Given the description of an element on the screen output the (x, y) to click on. 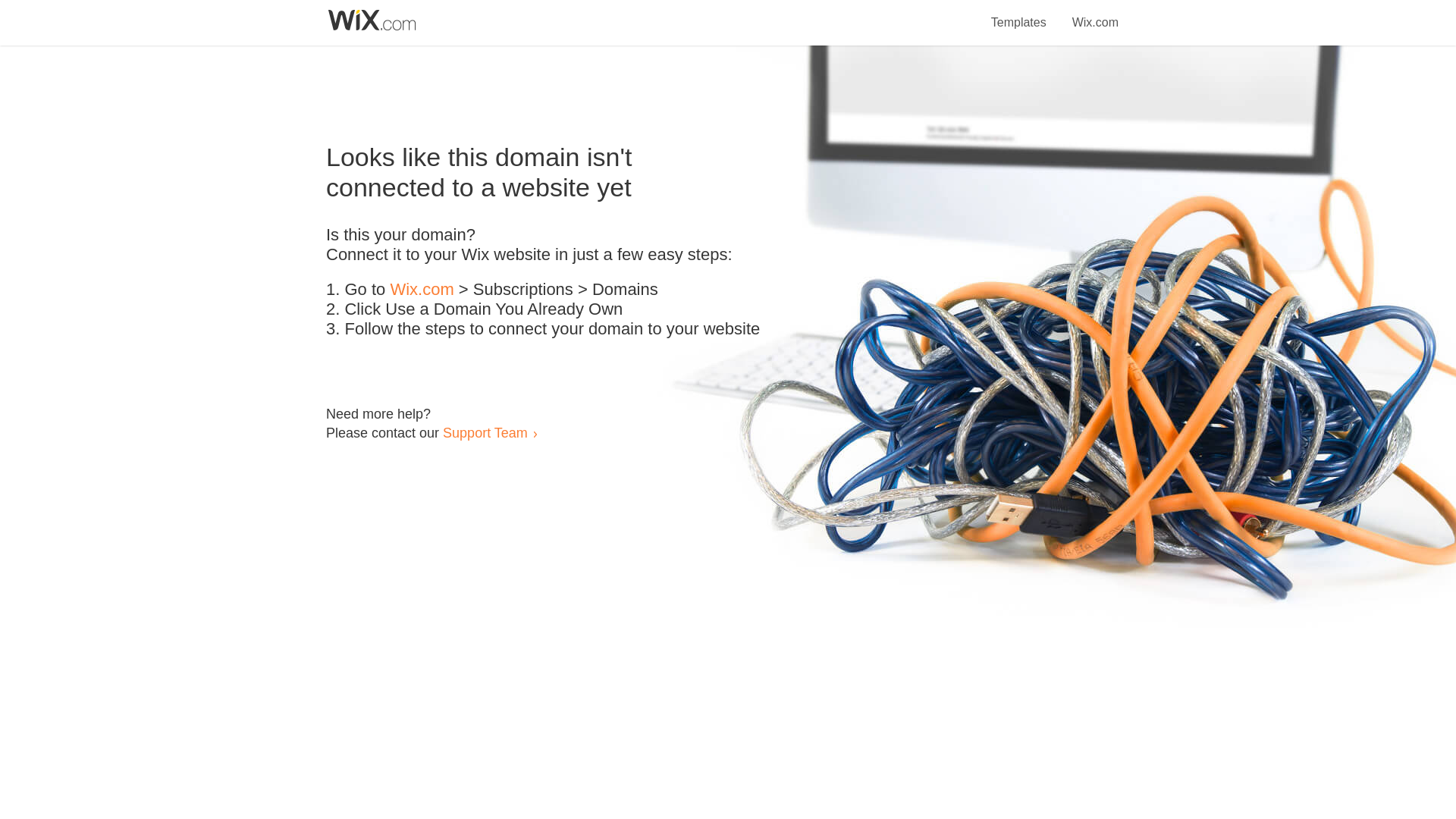
Wix.com (421, 289)
Templates (1018, 14)
Wix.com (1095, 14)
Support Team (484, 432)
